Given the description of an element on the screen output the (x, y) to click on. 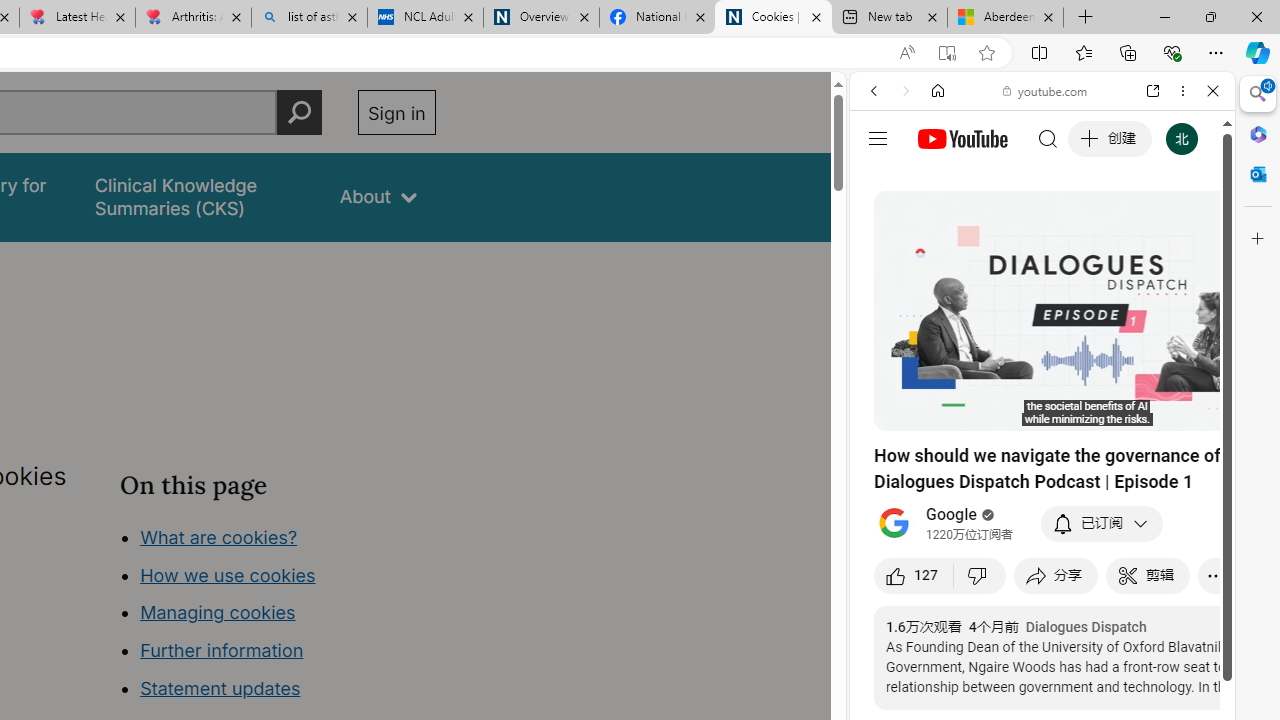
false (198, 196)
Statement updates (219, 688)
youtube.com (1046, 90)
Class: in-page-nav__list (277, 615)
Perform search (299, 112)
